Given the description of an element on the screen output the (x, y) to click on. 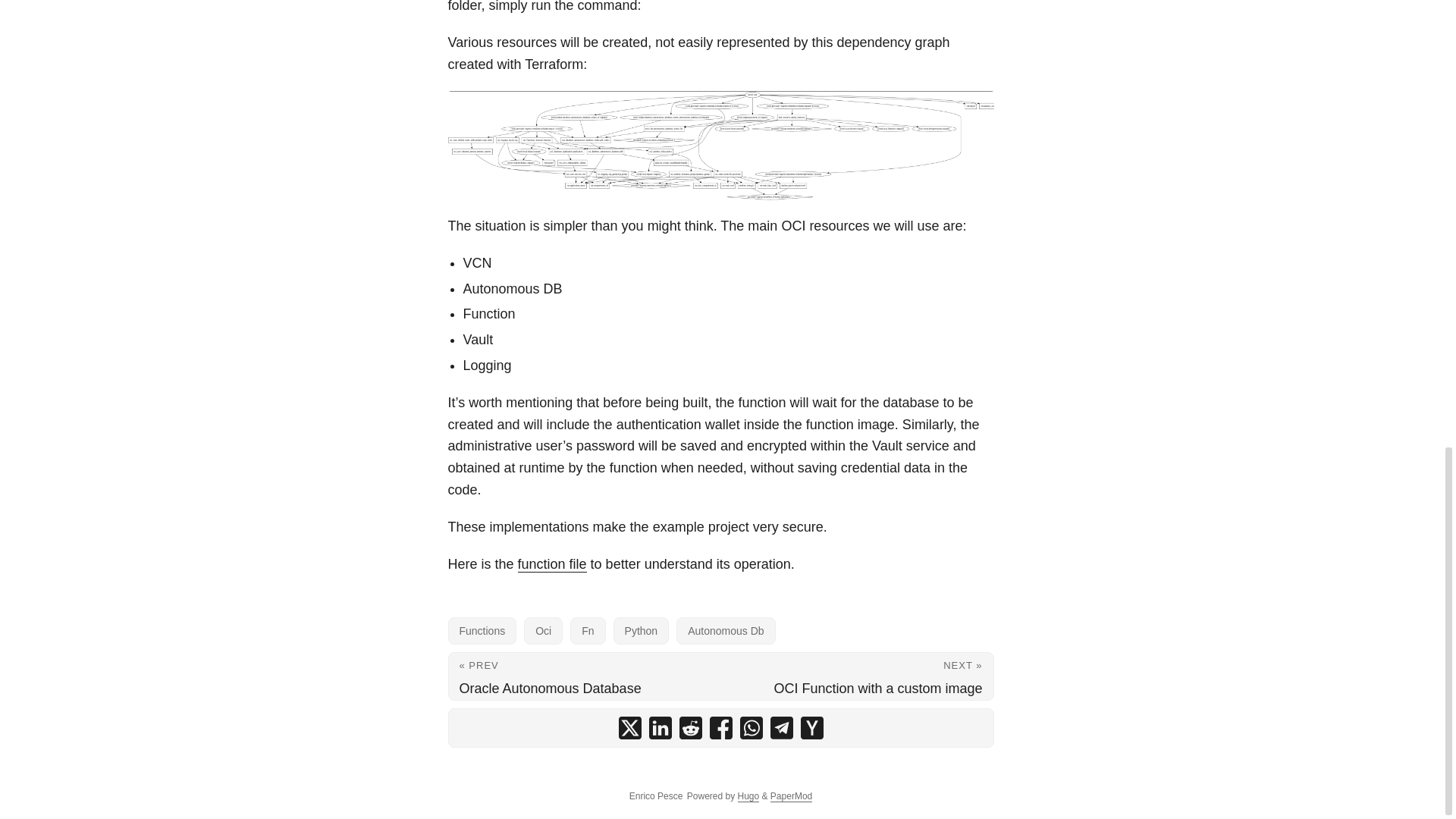
Functions (481, 630)
Python (640, 630)
Autonomous Db (725, 630)
PaperMod (791, 796)
Function Log (719, 144)
Hugo (747, 796)
Fn (587, 630)
function file (552, 563)
Oci (543, 630)
